Given the description of an element on the screen output the (x, y) to click on. 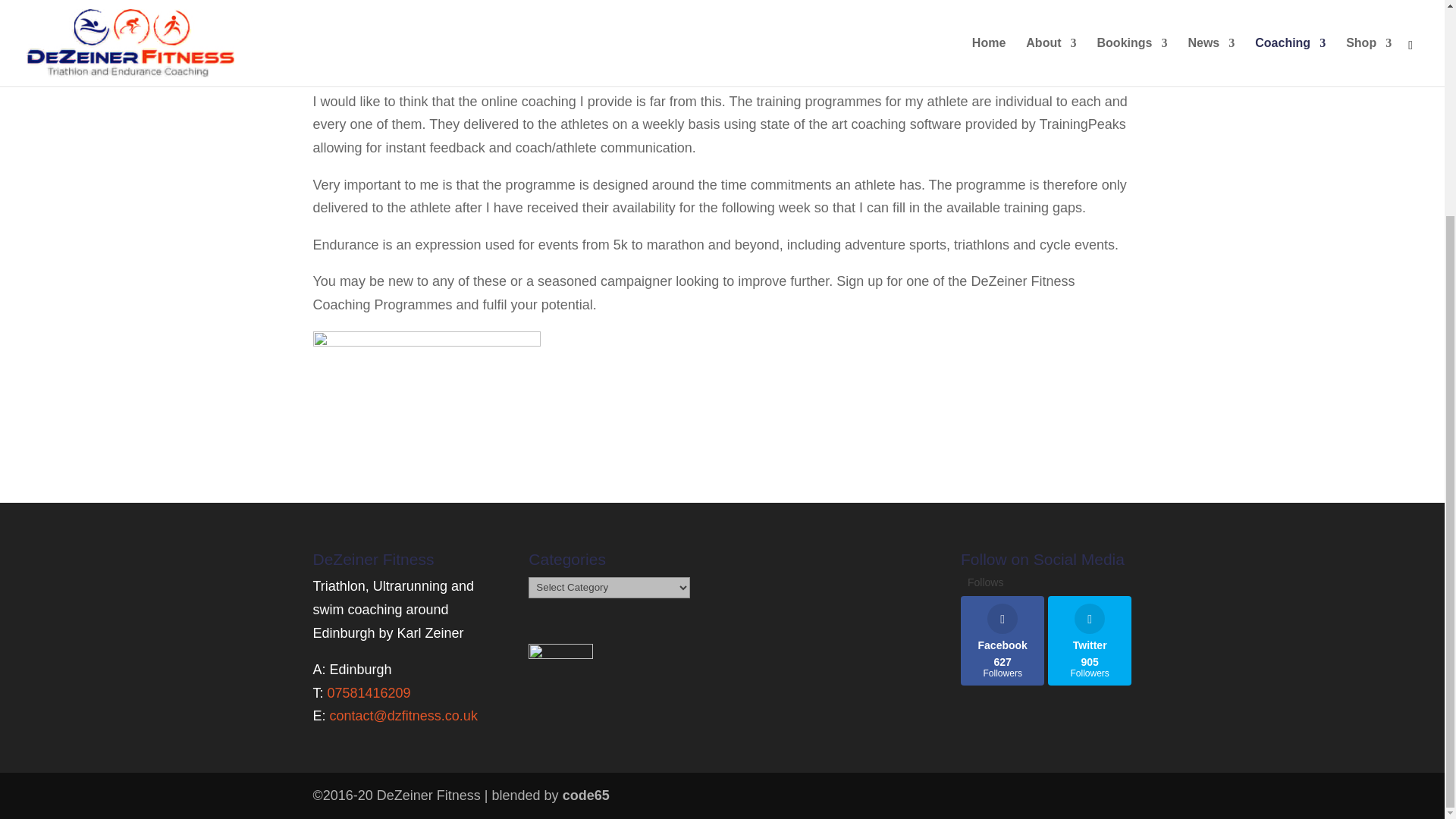
07581416209 (1089, 640)
Swim (1001, 640)
code65 (368, 693)
